Given the description of an element on the screen output the (x, y) to click on. 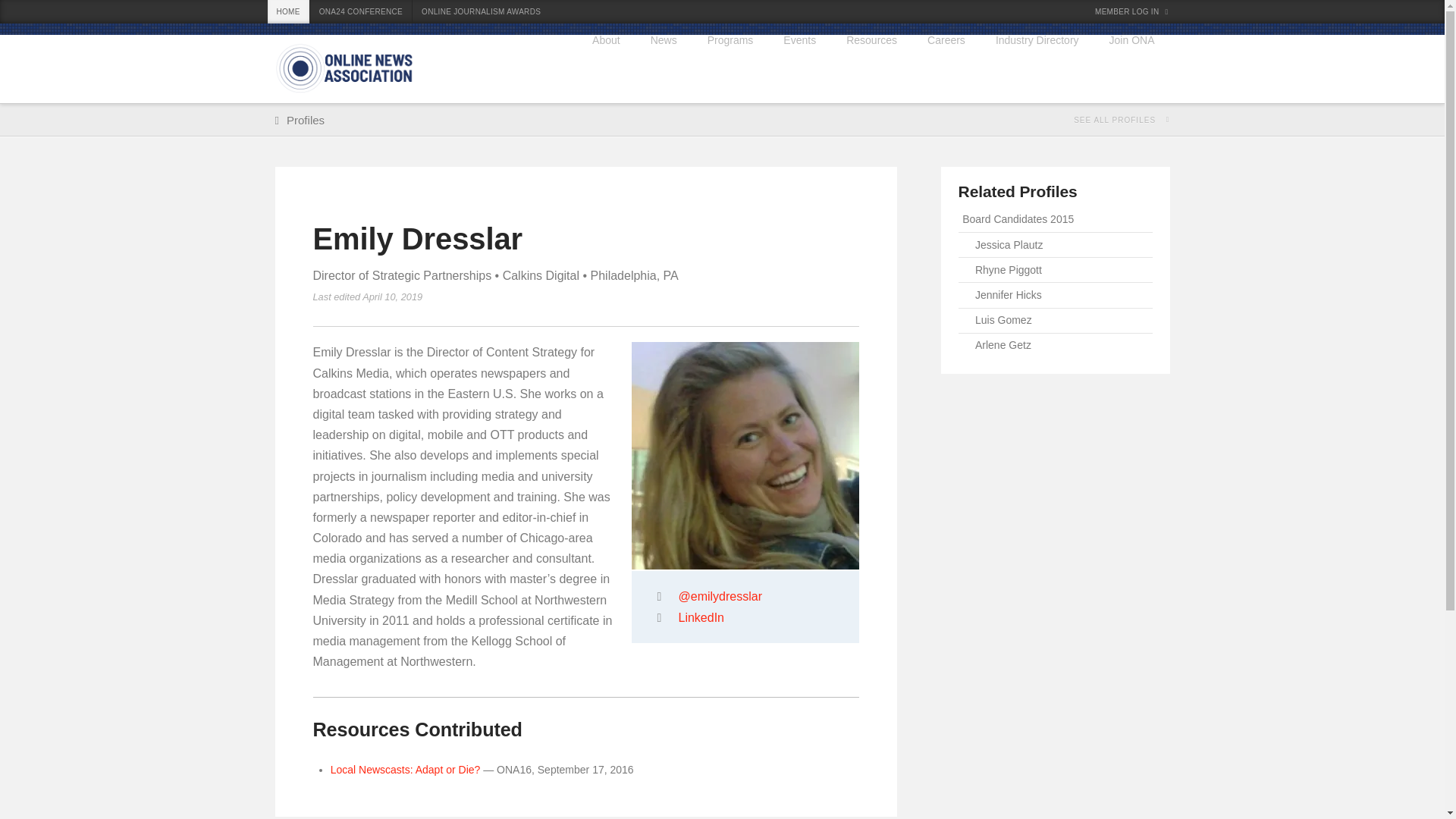
Luis Gomez (1055, 320)
Jessica Plautz (1055, 244)
Industry Directory (1036, 69)
Jennifer Hicks (1055, 294)
ONA24 CONFERENCE (361, 11)
Board Candidates 2015 (1055, 220)
Resources (871, 69)
ONLINE JOURNALISM AWARDS (481, 11)
Events (799, 69)
